Given the description of an element on the screen output the (x, y) to click on. 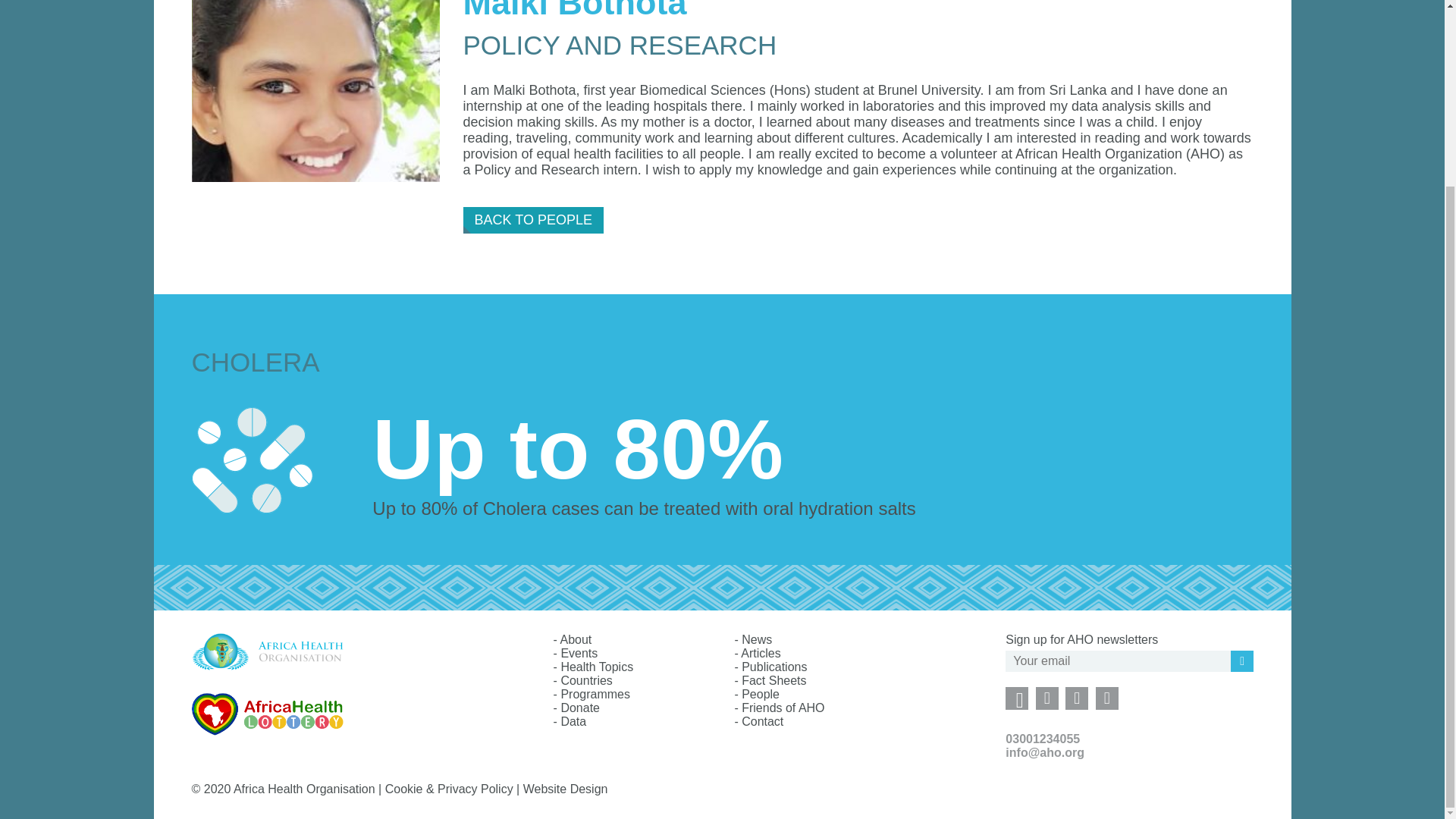
Countries (585, 680)
BACK TO PEOPLE (533, 220)
Events (578, 653)
About (575, 639)
Programmes (595, 694)
Health Topics (596, 666)
